Given the description of an element on the screen output the (x, y) to click on. 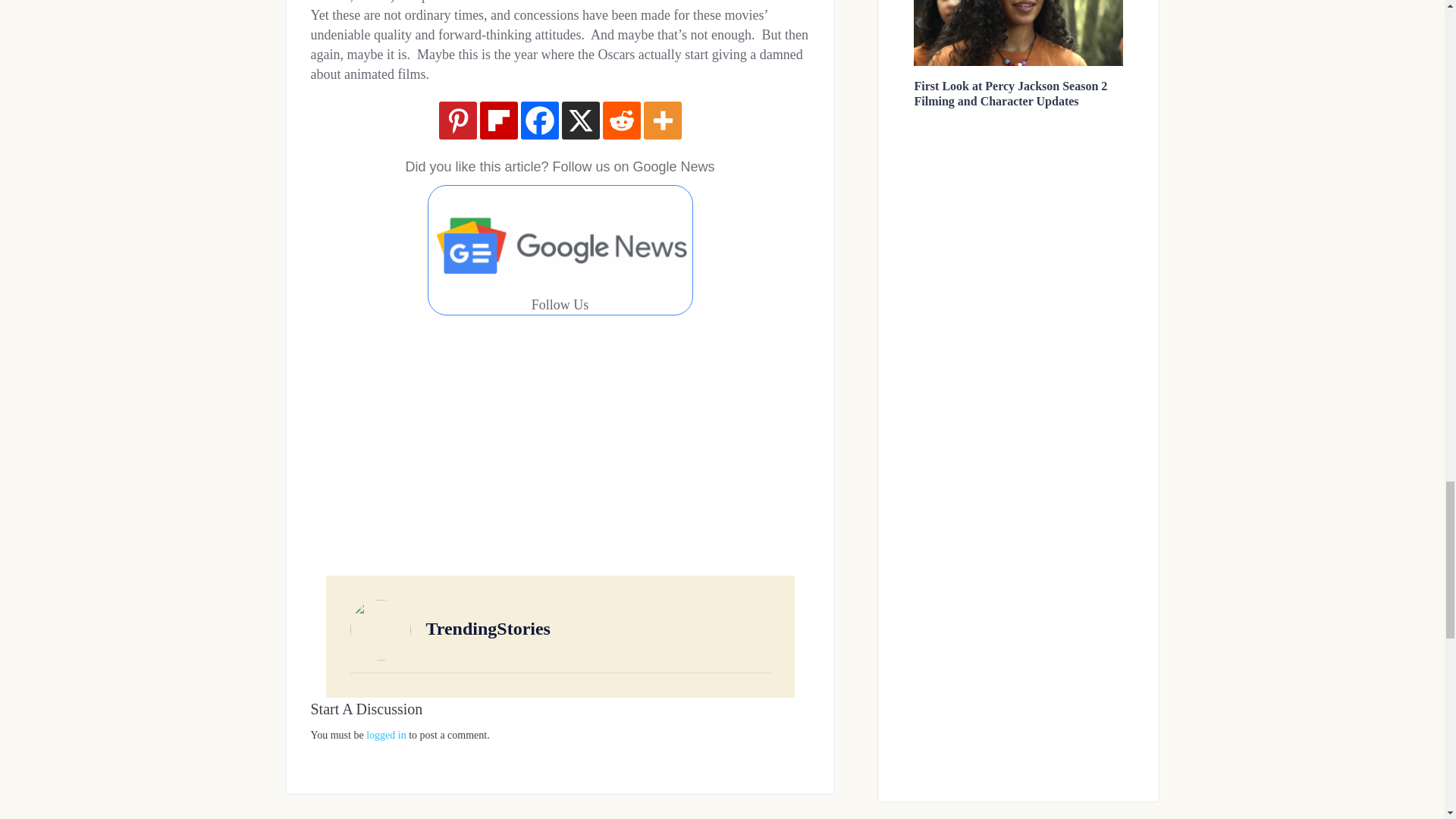
More (662, 120)
X (579, 120)
Flipboard (497, 120)
Reddit (621, 120)
Pinterest (457, 120)
Facebook (538, 120)
